Given the description of an element on the screen output the (x, y) to click on. 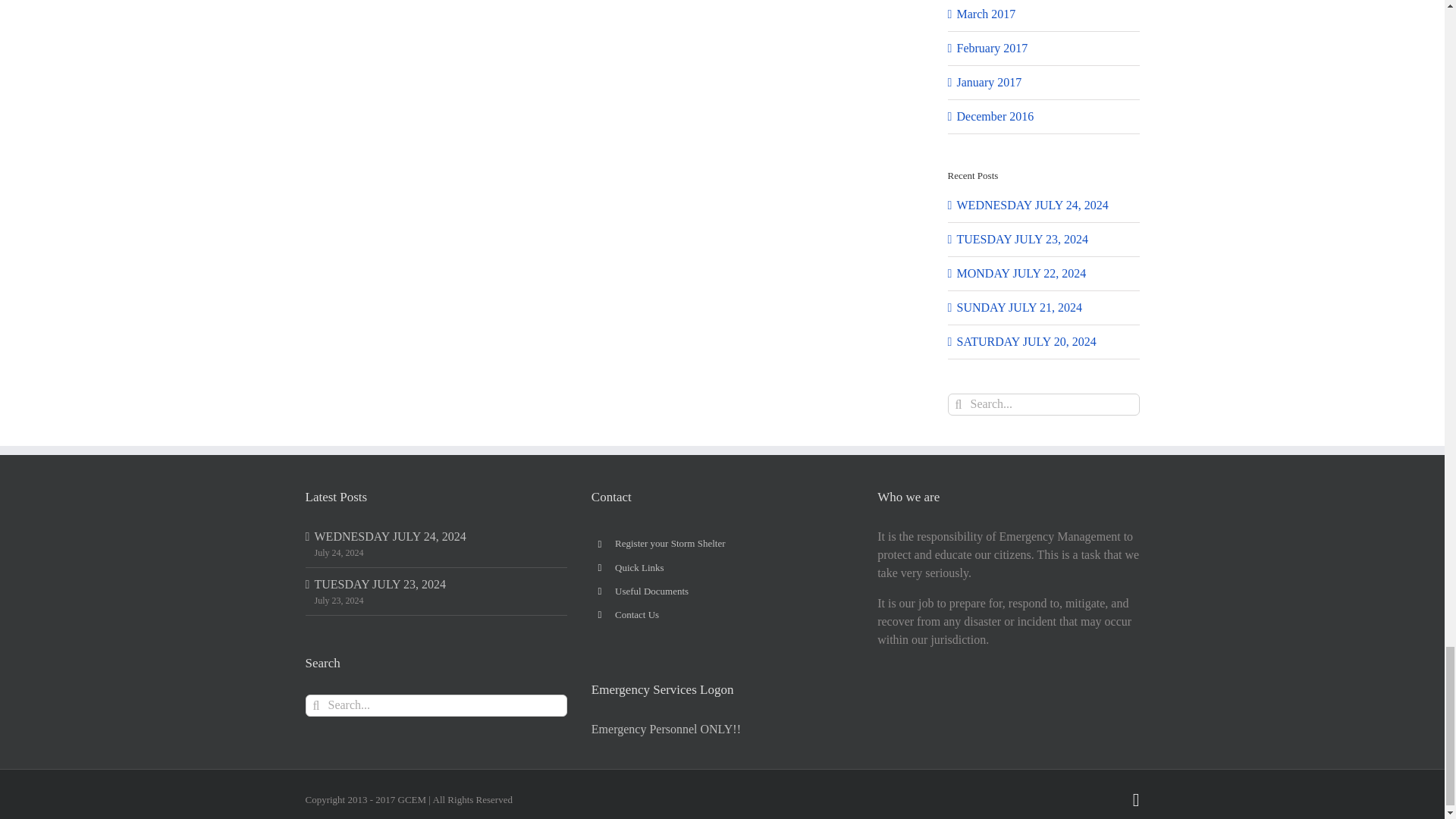
Facebook (1136, 800)
